Given the description of an element on the screen output the (x, y) to click on. 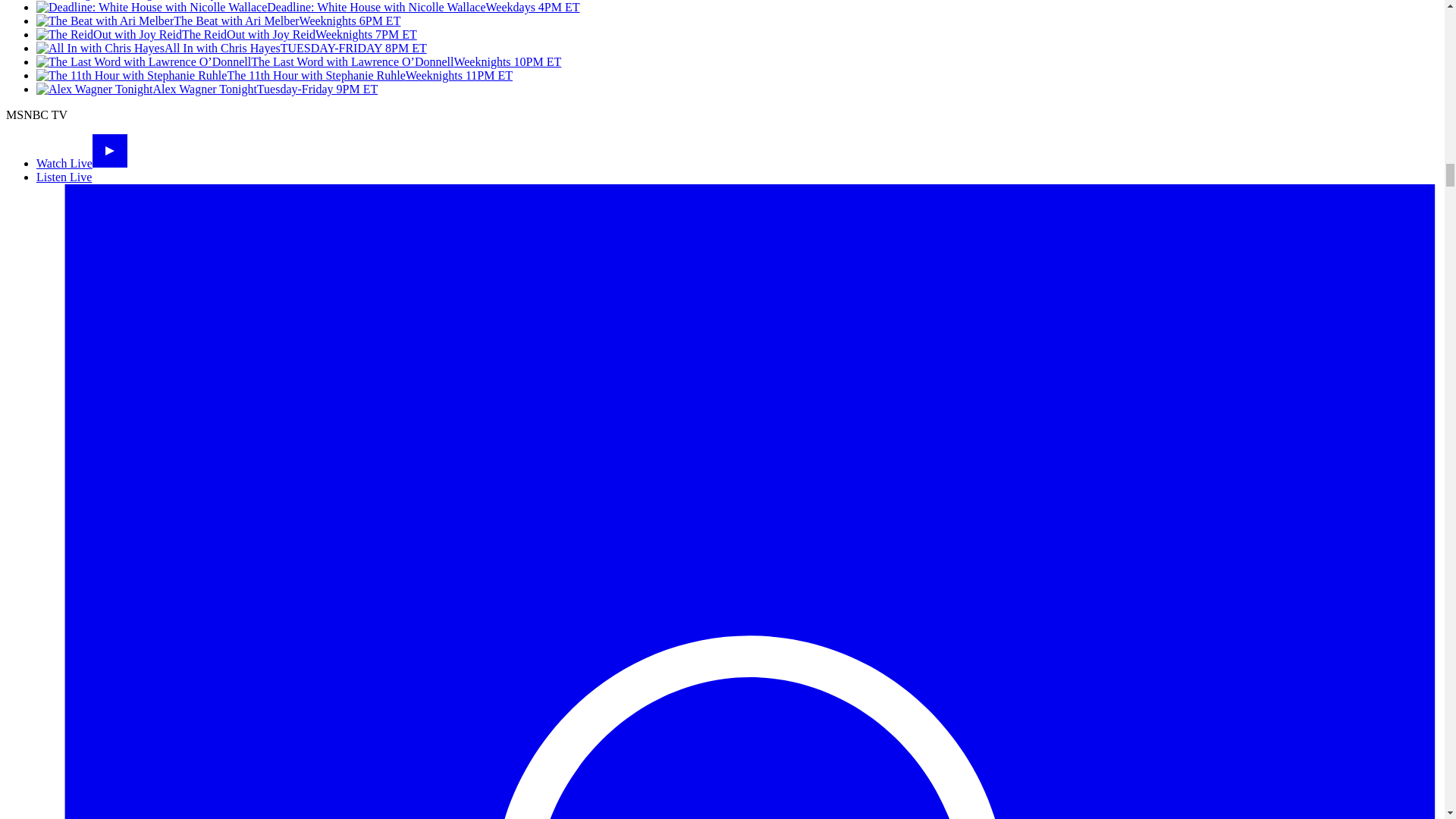
The 11th Hour with Stephanie RuhleWeeknights 11PM ET (274, 74)
The ReidOut with Joy ReidWeeknights 7PM ET (226, 33)
Deadline: White House with Nicolle WallaceWeekdays 4PM ET (307, 6)
All In with Chris HayesTUESDAY-FRIDAY 8PM ET (231, 47)
The Beat with Ari MelberWeeknights 6PM ET (218, 20)
Watch Live (82, 163)
Alex Wagner TonightTuesday-Friday 9PM ET (206, 88)
